Given the description of an element on the screen output the (x, y) to click on. 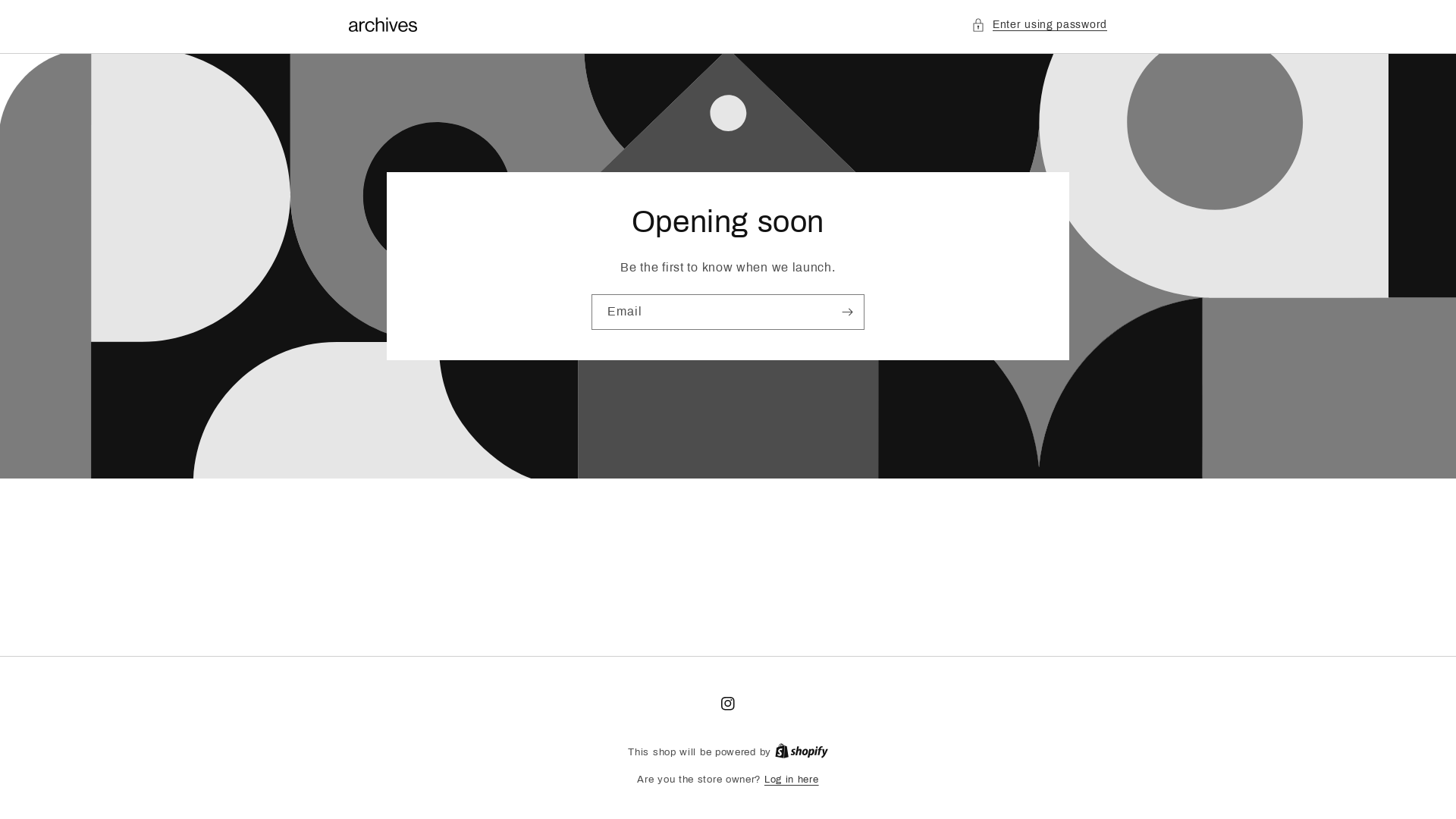
Log in here Element type: text (791, 779)
Instagram Element type: text (727, 703)
